Given the description of an element on the screen output the (x, y) to click on. 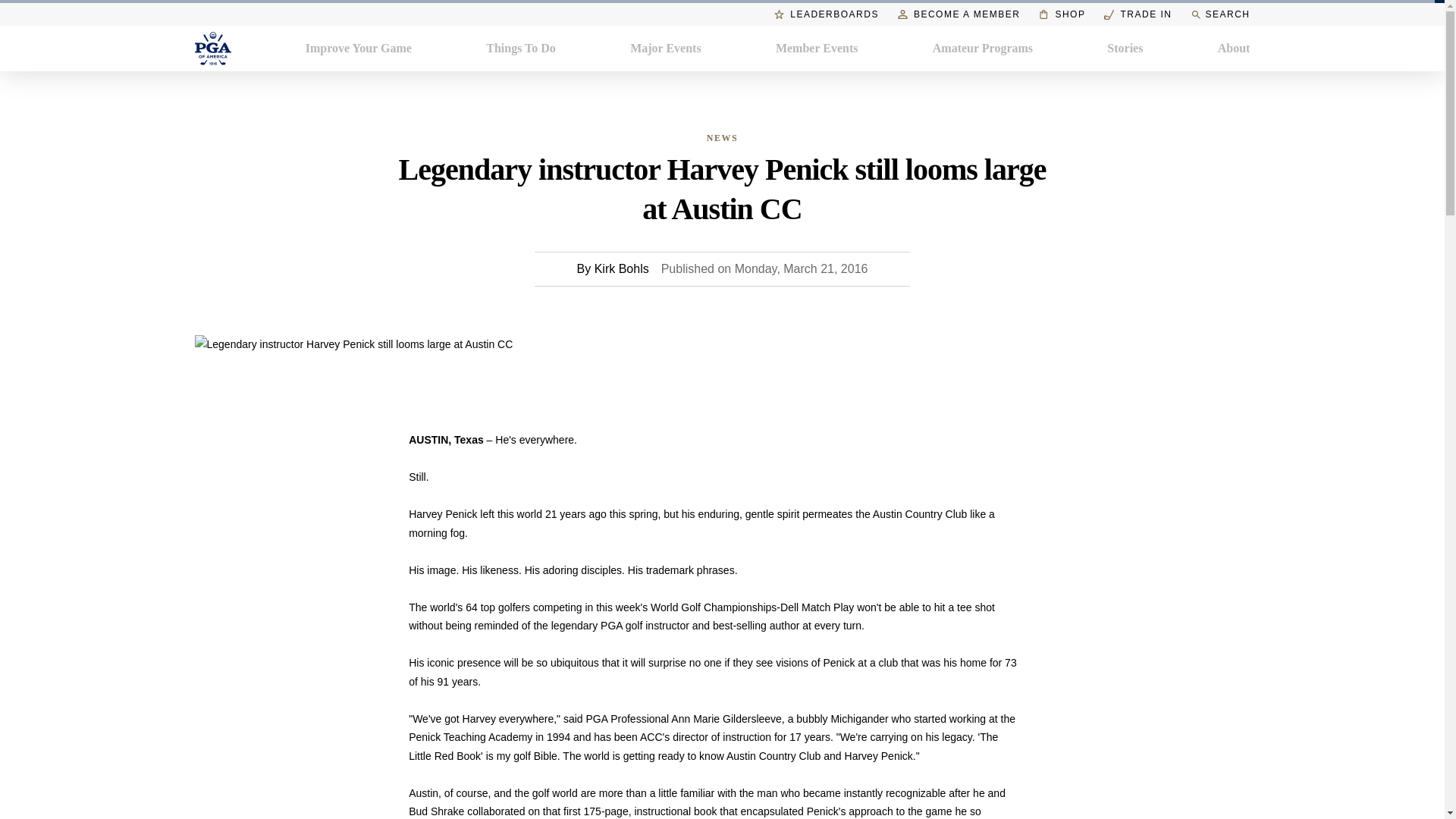
SHOP (1061, 13)
Major Events (665, 48)
Member Events (817, 48)
TRADE IN (1137, 13)
Amateur Programs (982, 48)
SEARCH (1220, 14)
Things To Do (521, 48)
Improve Your Game (358, 48)
LEADERBOARDS (826, 13)
BECOME A MEMBER (959, 13)
